Given the description of an element on the screen output the (x, y) to click on. 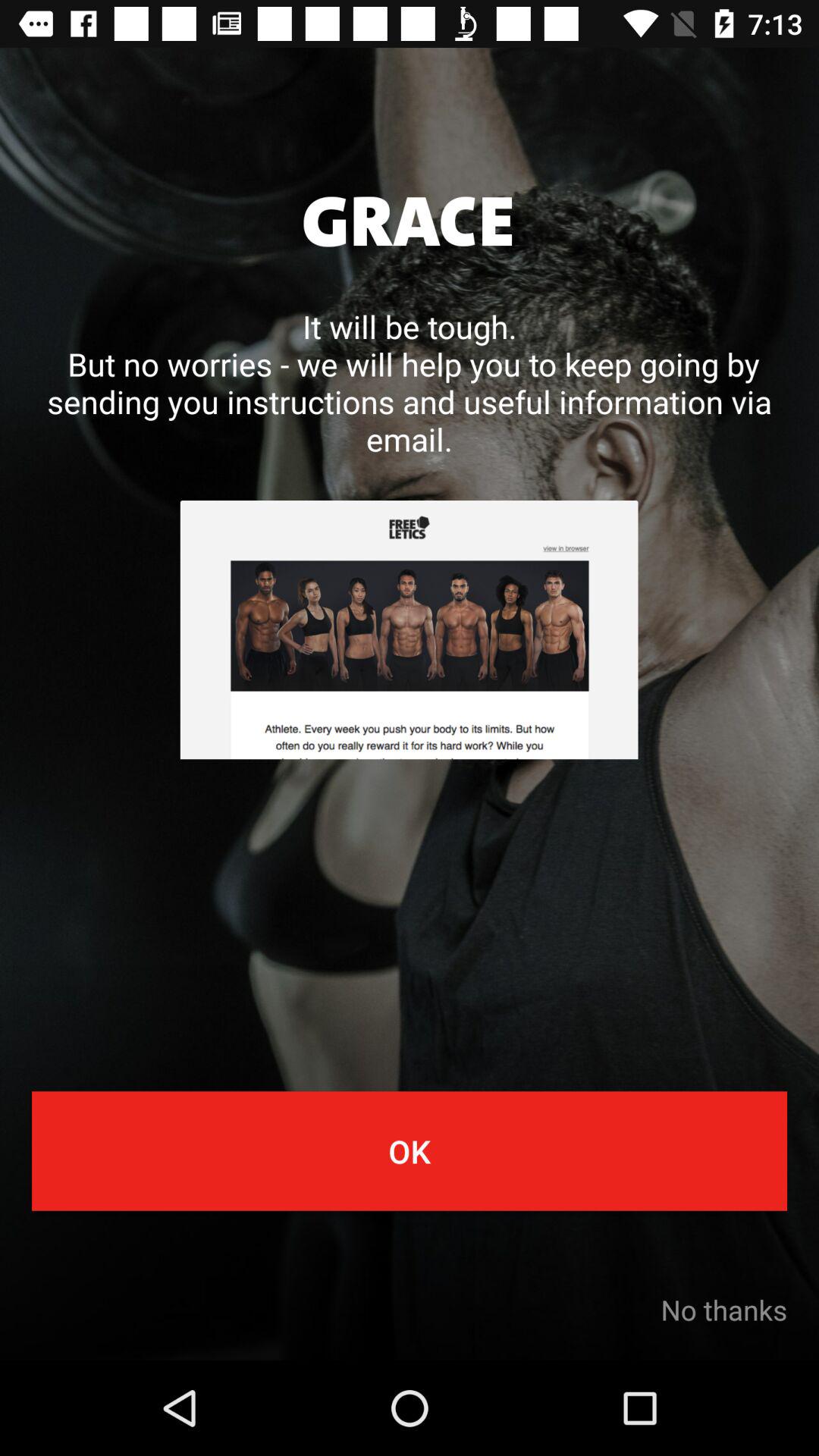
jump until ok (409, 1150)
